Given the description of an element on the screen output the (x, y) to click on. 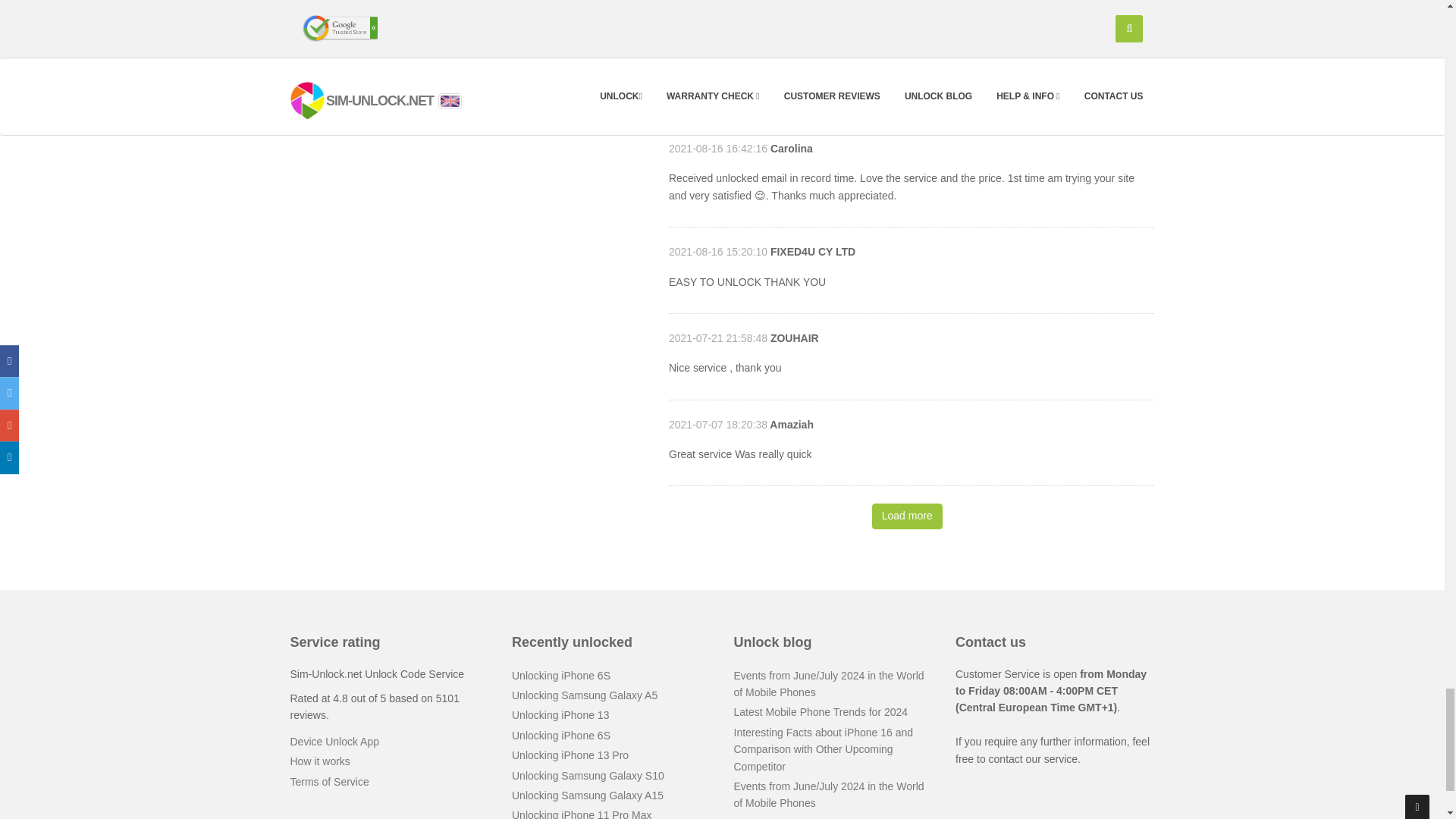
Unlocking iPhone 13 Pro (570, 755)
Unlocking iPhone 6S (561, 675)
Unlocking Samsung Galaxy A5 (585, 695)
Unlocking Samsung Galaxy A15 (587, 795)
Unlocking Samsung Galaxy S10 (587, 775)
Unlocking iPhone 13 (560, 715)
Unlocking iPhone 6S (561, 735)
Latest Mobile Phone Trends for 2024 (820, 711)
